Given the description of an element on the screen output the (x, y) to click on. 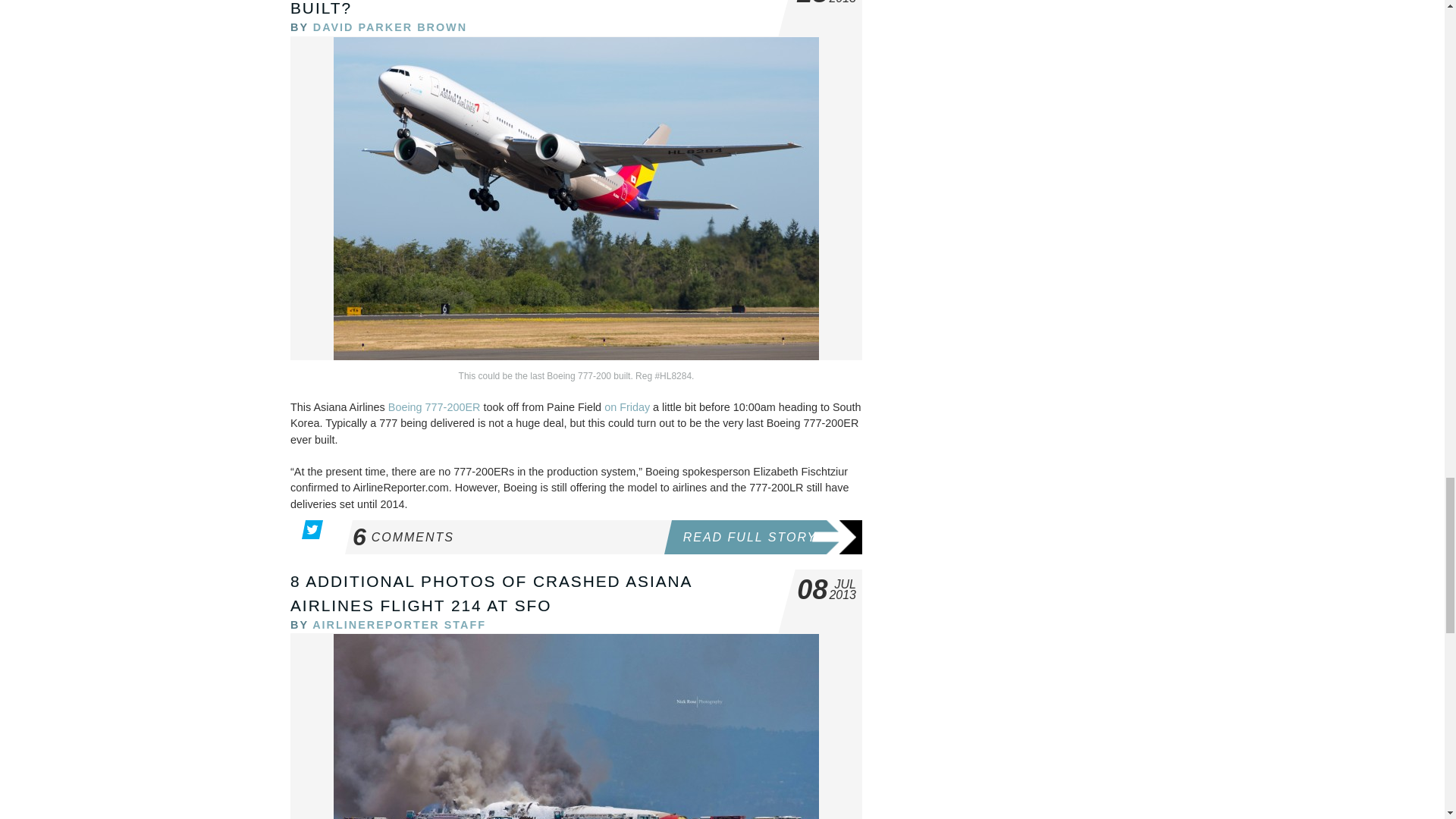
Could this Be the Last Boeing 777-200ER Ever Built? (521, 8)
Posts by David Parker Brown (390, 27)
